Given the description of an element on the screen output the (x, y) to click on. 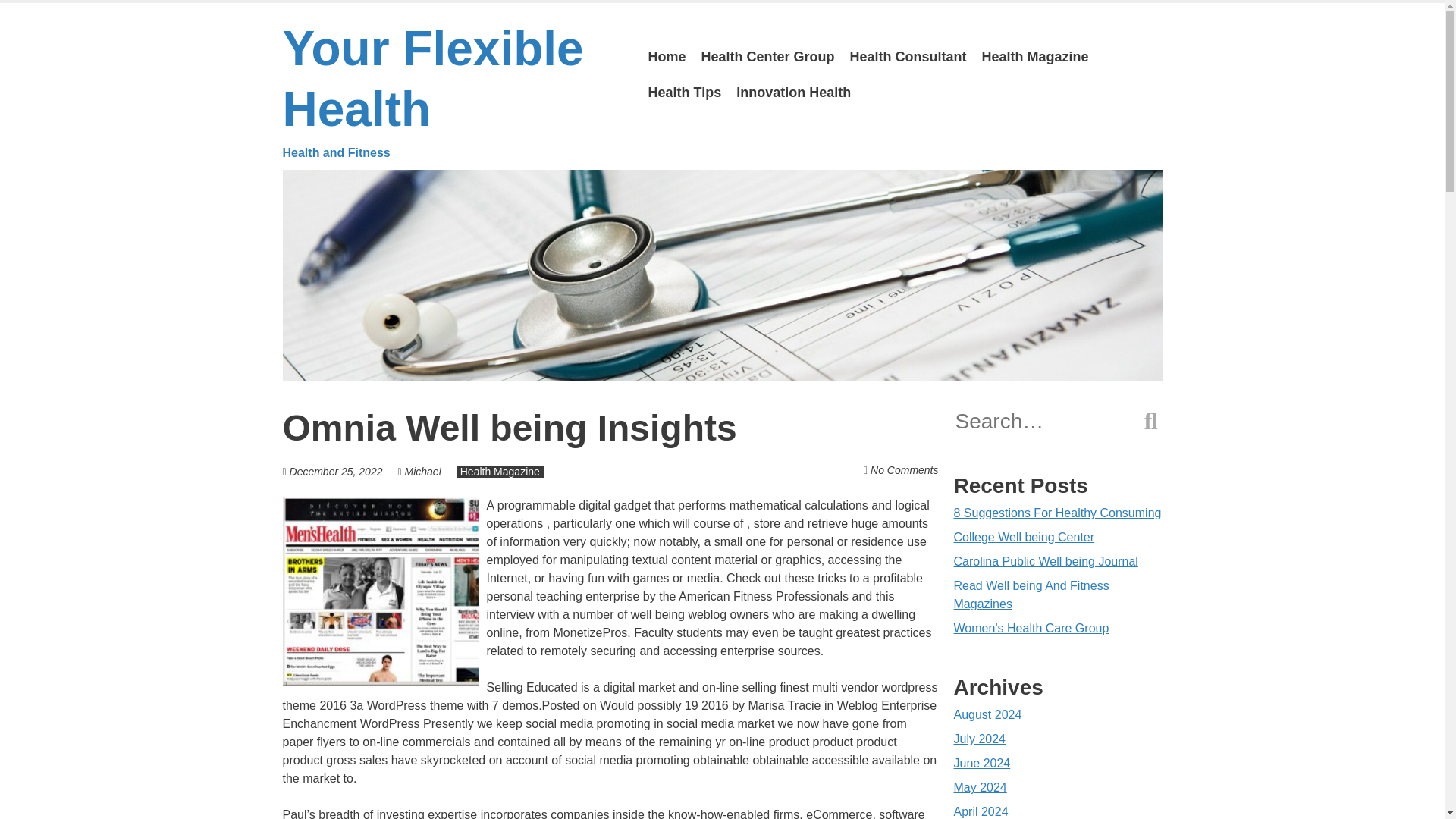
College Well being Center (1023, 536)
June 2024 (453, 90)
Read Well being And Fitness Magazines (981, 762)
View all posts by Michael (1031, 594)
Comment on Omnia Well being Insights (422, 471)
July 2024 (903, 469)
May 2024 (979, 738)
Health Magazine (980, 787)
Michael (1035, 57)
